Given the description of an element on the screen output the (x, y) to click on. 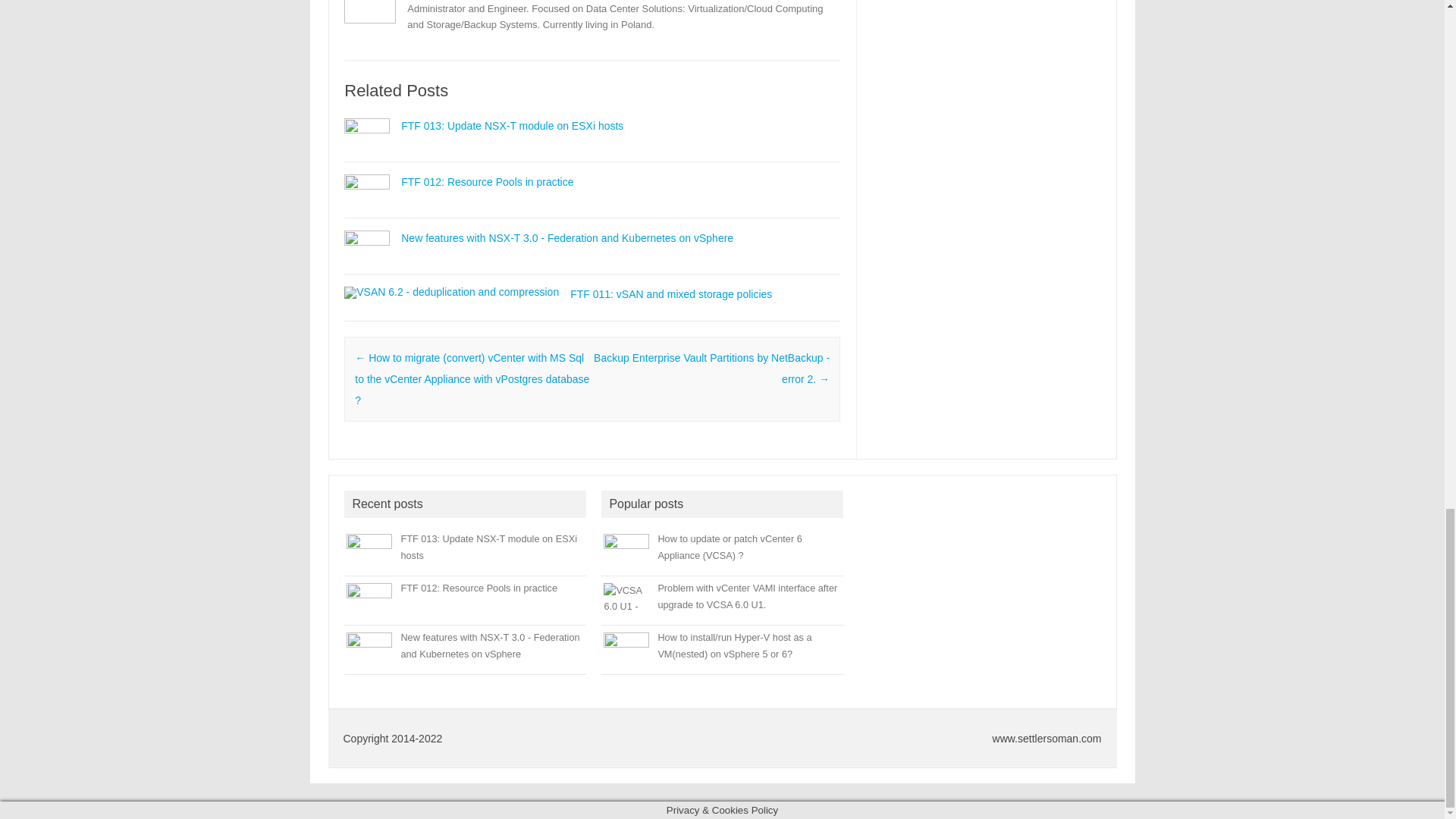
FTF 013: Update NSX-T module on ESXi hosts (512, 125)
FTF 013: Update NSX-T module on ESXi hosts (512, 125)
FTF 011: vSAN and mixed storage policies (670, 294)
FTF 013: Update NSX-T module on ESXi hosts (366, 129)
FTF 012: Resource Pools in practice (487, 182)
FTF 012: Resource Pools in practice (366, 185)
FTF 012: Resource Pools in practice (487, 182)
